Given the description of an element on the screen output the (x, y) to click on. 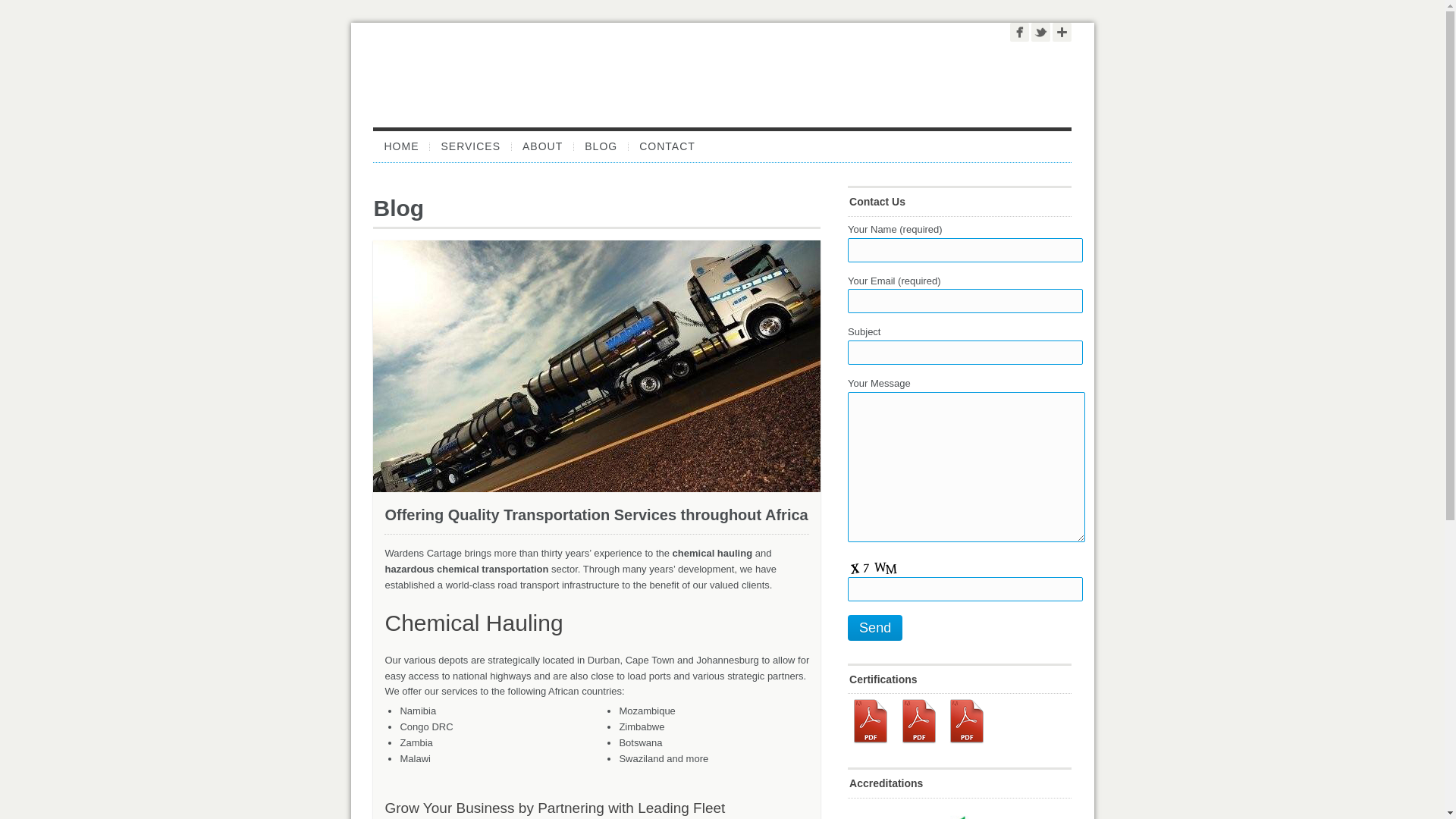
SERVICES (470, 146)
CONTACT (667, 146)
Twitter Page (1039, 31)
GooglePlus Page (1061, 31)
Send (874, 627)
BLOG (600, 146)
HOME (400, 146)
Offering Quality Transportation Services throughout Africa (596, 514)
Send (874, 627)
Facebook Page (1019, 31)
ABOUT (542, 146)
